Given the description of an element on the screen output the (x, y) to click on. 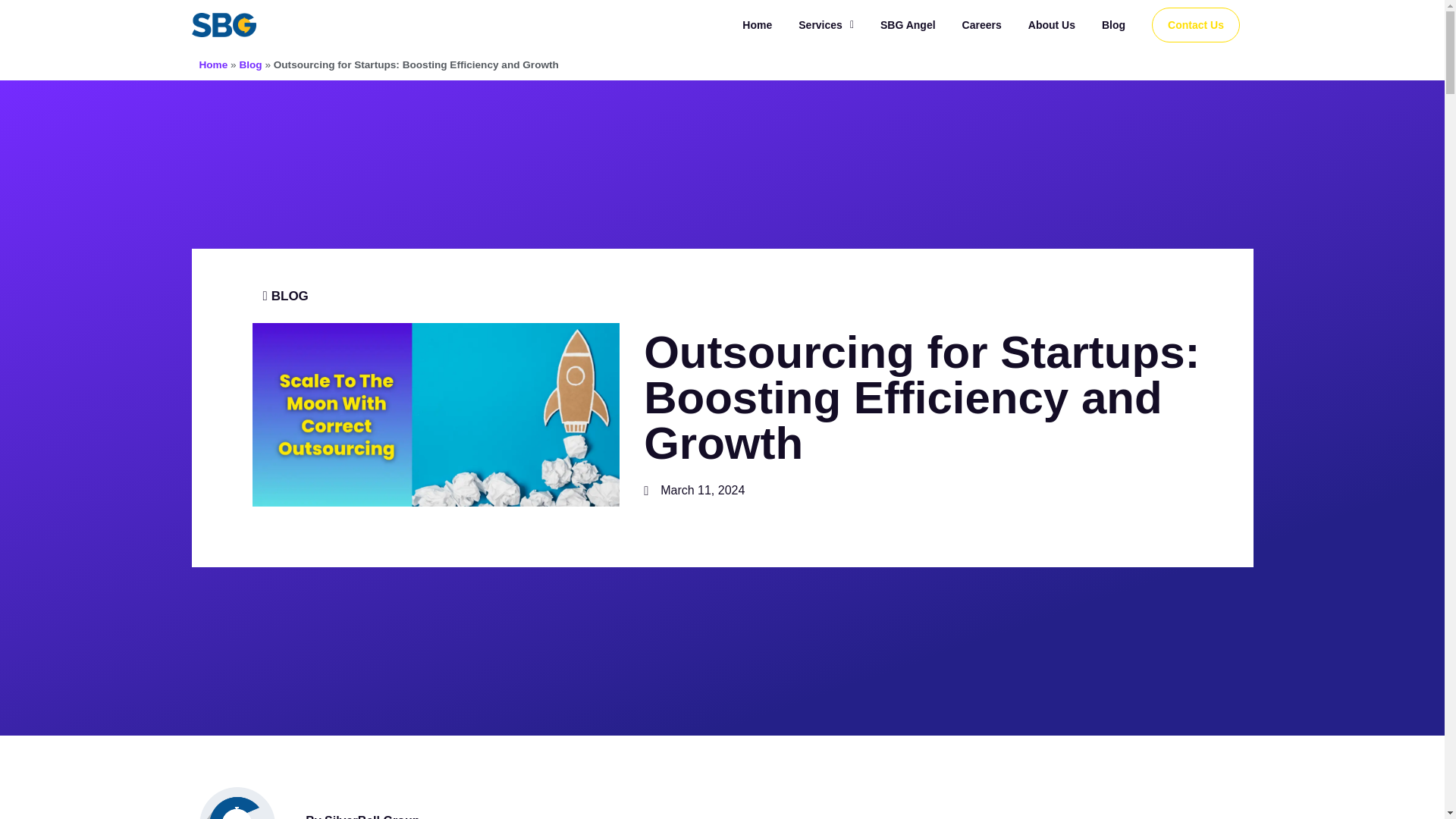
Services (825, 24)
SBG Angel (908, 24)
Careers (981, 24)
About Us (1051, 24)
Contact Us (1195, 24)
